Given the description of an element on the screen output the (x, y) to click on. 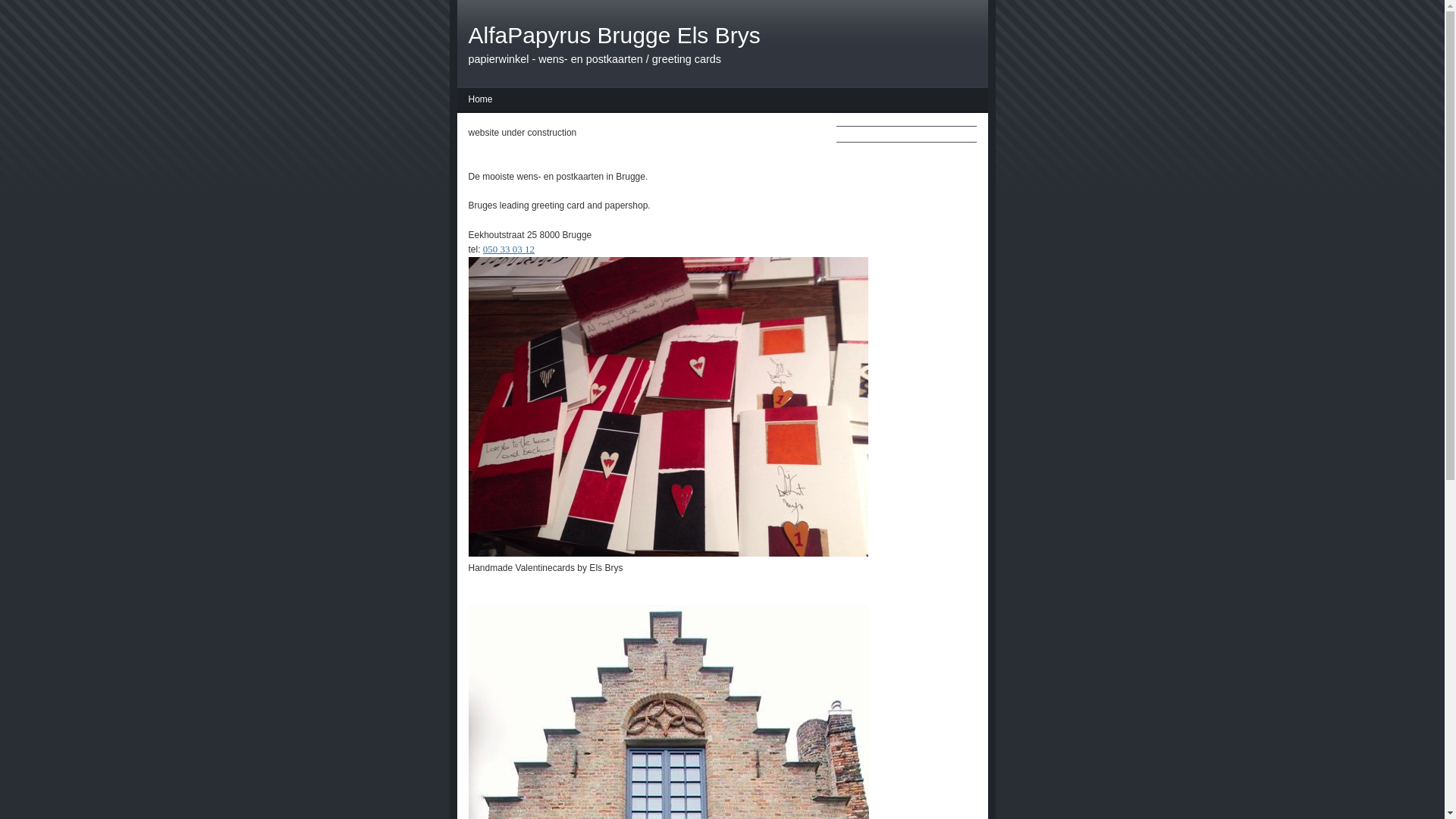
Home Element type: text (479, 100)
050 33 03 12 Element type: text (508, 248)
